Given the description of an element on the screen output the (x, y) to click on. 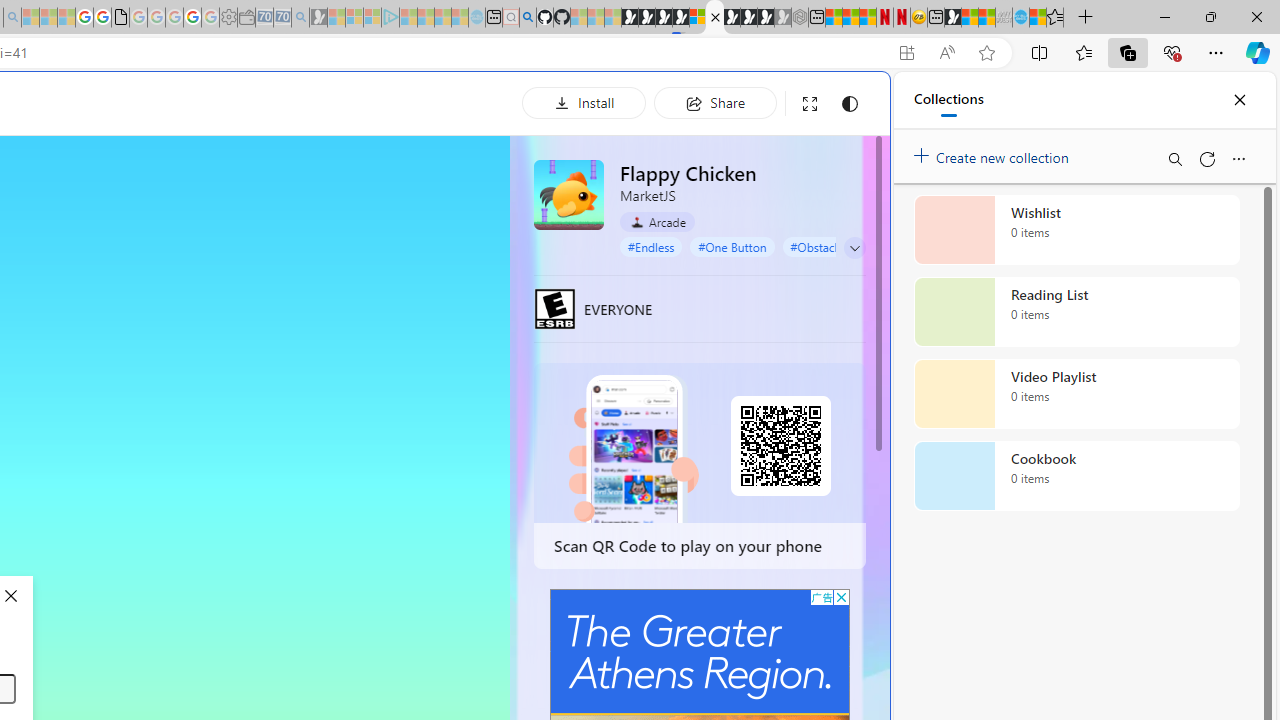
#One Button (731, 246)
Search or enter web address (343, 191)
Full screen (810, 103)
#Obstacle Course (837, 246)
Create new collection (994, 153)
Cookbook collection, 0 items (1076, 475)
#Endless (651, 246)
